Given the description of an element on the screen output the (x, y) to click on. 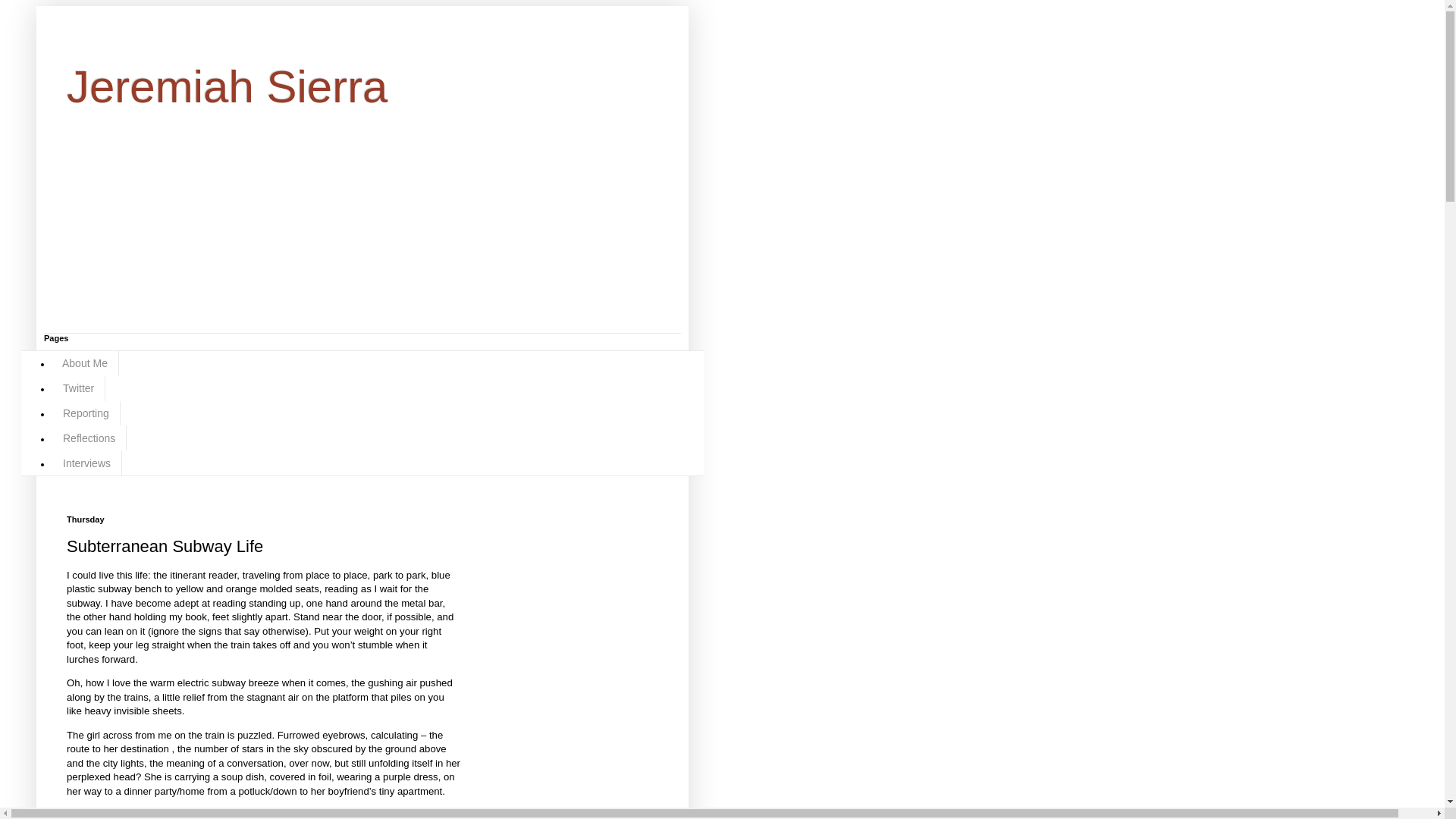
Interviews (86, 462)
Twitter (77, 388)
Reflections (88, 437)
About Me (84, 363)
Reporting (85, 413)
Jeremiah Sierra (227, 86)
